Given the description of an element on the screen output the (x, y) to click on. 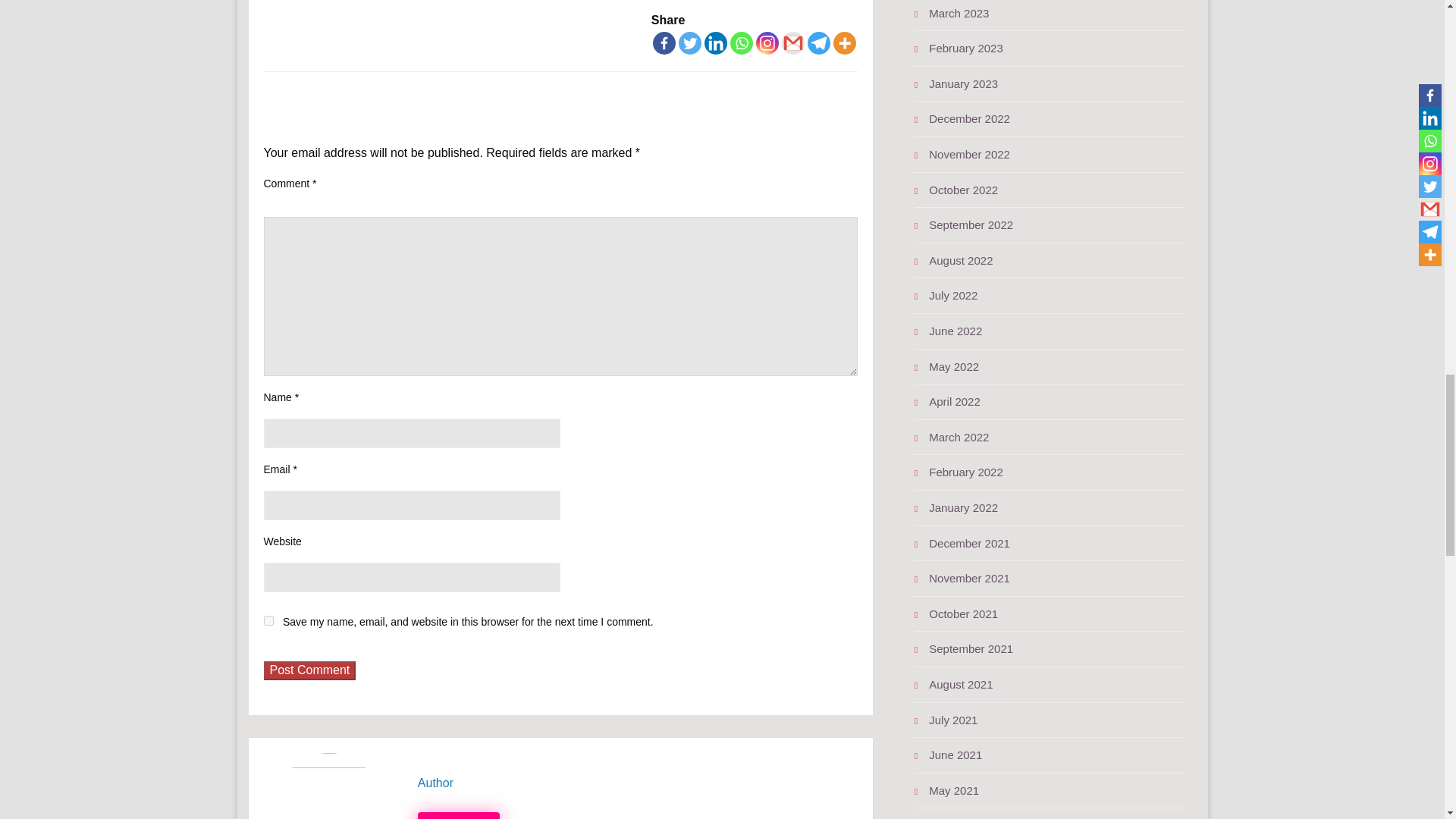
More (844, 42)
Whatsapp (741, 42)
Instagram (766, 42)
Telegram (818, 42)
Post Comment (309, 669)
Twitter (689, 42)
Facebook (663, 42)
yes (268, 620)
Google Gmail (793, 42)
Linkedin (715, 42)
